Given the description of an element on the screen output the (x, y) to click on. 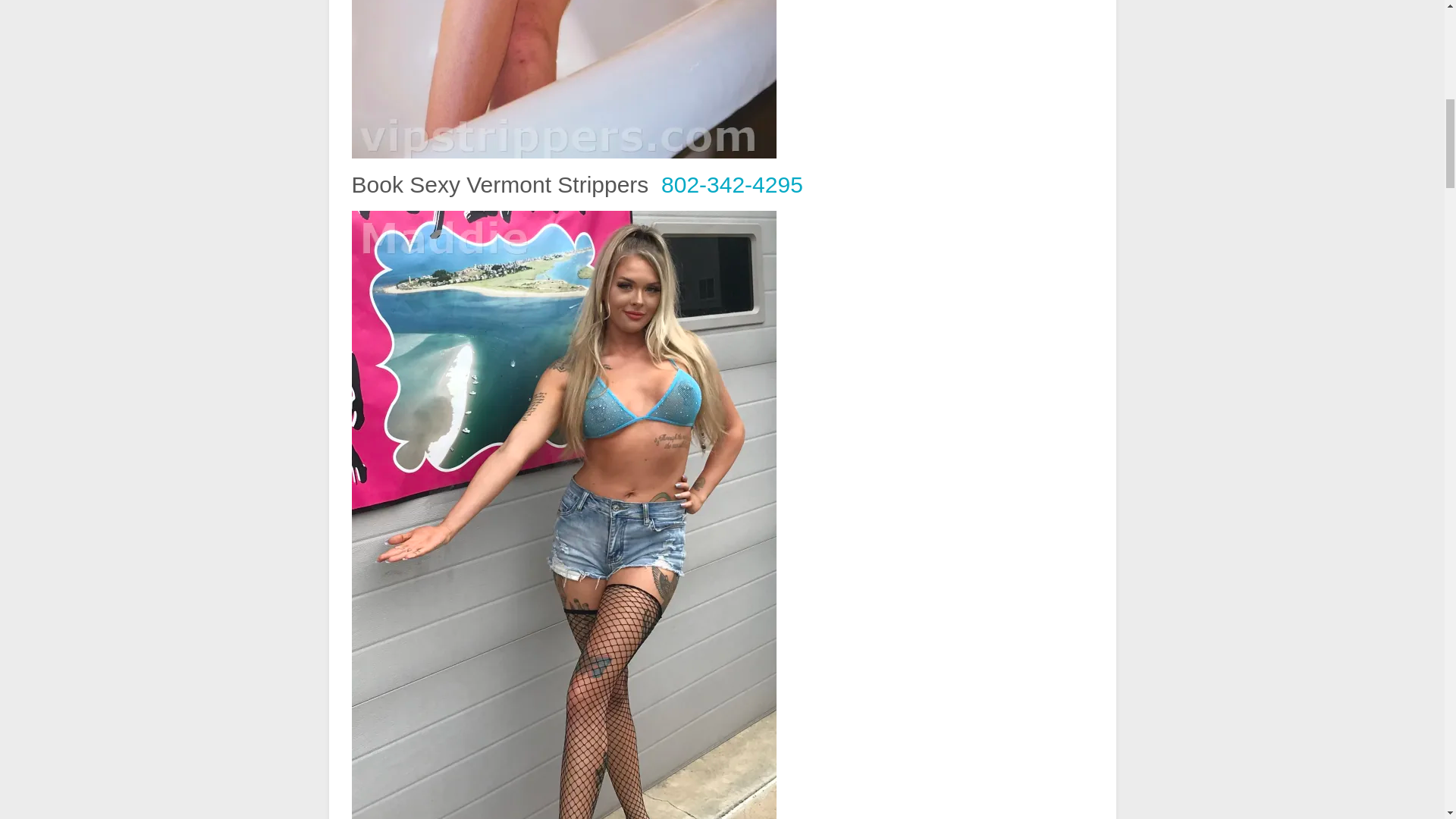
802-342-4295 (732, 184)
